Given the description of an element on the screen output the (x, y) to click on. 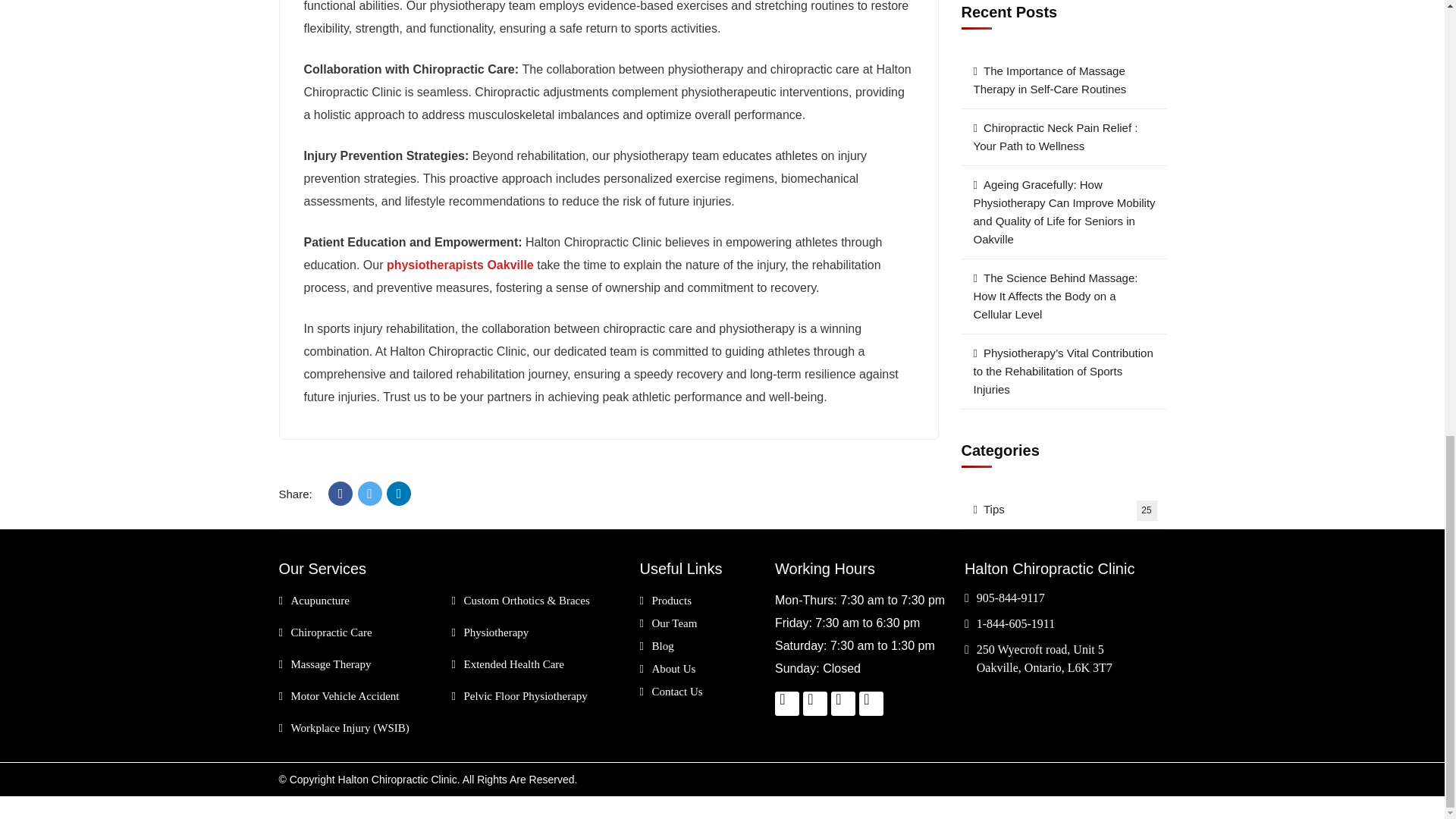
Facebook (340, 493)
LinkedIn (398, 493)
Twitter (369, 493)
